Given the description of an element on the screen output the (x, y) to click on. 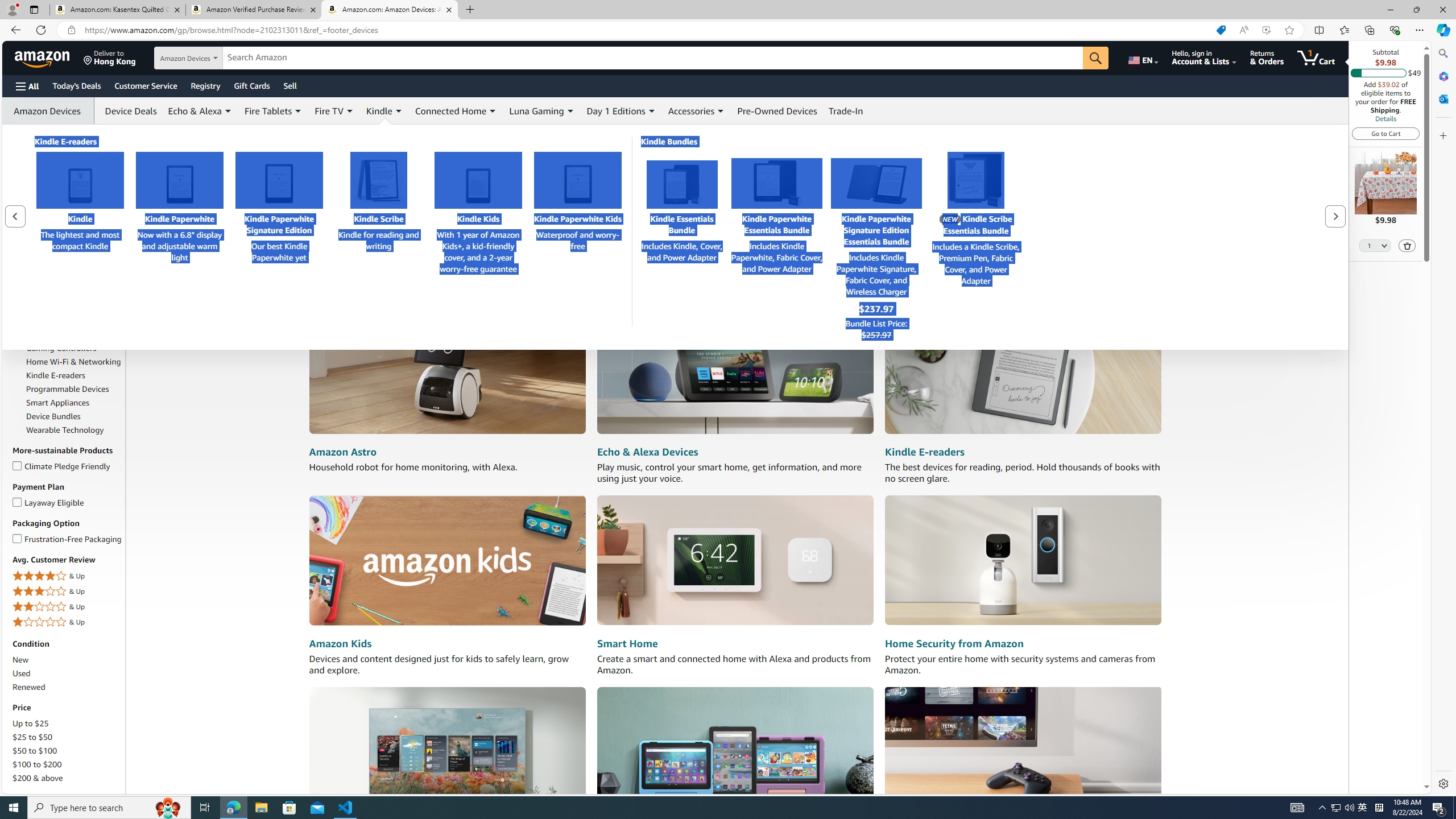
Astro Robots (49, 257)
Day 1 Editions (621, 110)
Home Security devices (1022, 560)
Kindle Kindle The lightest and most compact Kindle (79, 214)
Choose a language for shopping. (1142, 57)
$50 to $100 (34, 750)
$100 to $200 (37, 764)
Astro Robots (74, 256)
Unmute (327, 265)
$100 to $200 (67, 763)
Gaming Controllers (61, 347)
Pre-Owned Devices (776, 110)
